Given the description of an element on the screen output the (x, y) to click on. 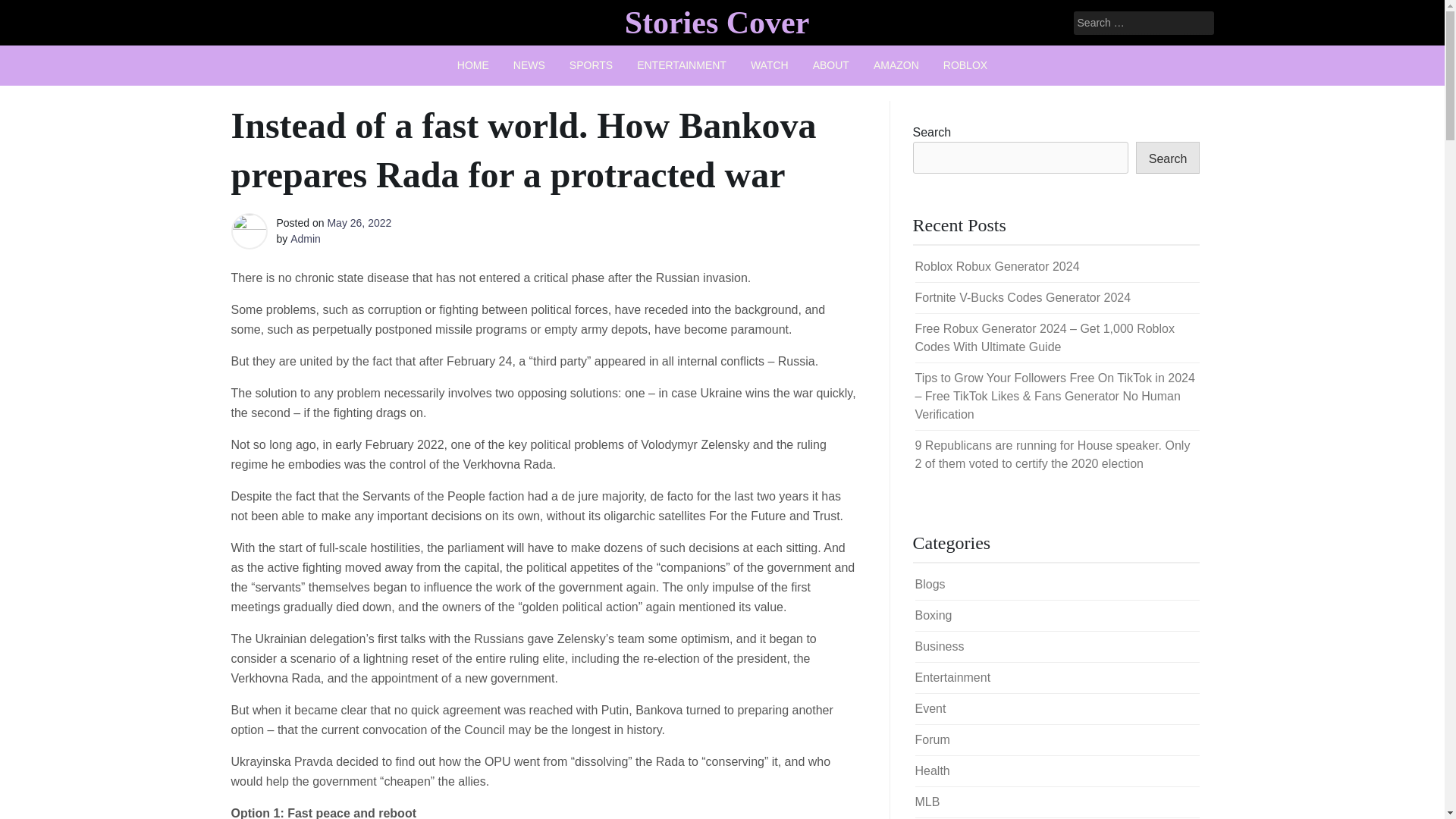
NEWS (528, 65)
ROBLOX (964, 65)
Stories Cover (716, 22)
ABOUT (830, 65)
AMAZON (896, 65)
ENTERTAINMENT (681, 65)
SPORTS (590, 65)
May 26, 2022 (358, 223)
HOME (472, 65)
Admin (304, 238)
